Given the description of an element on the screen output the (x, y) to click on. 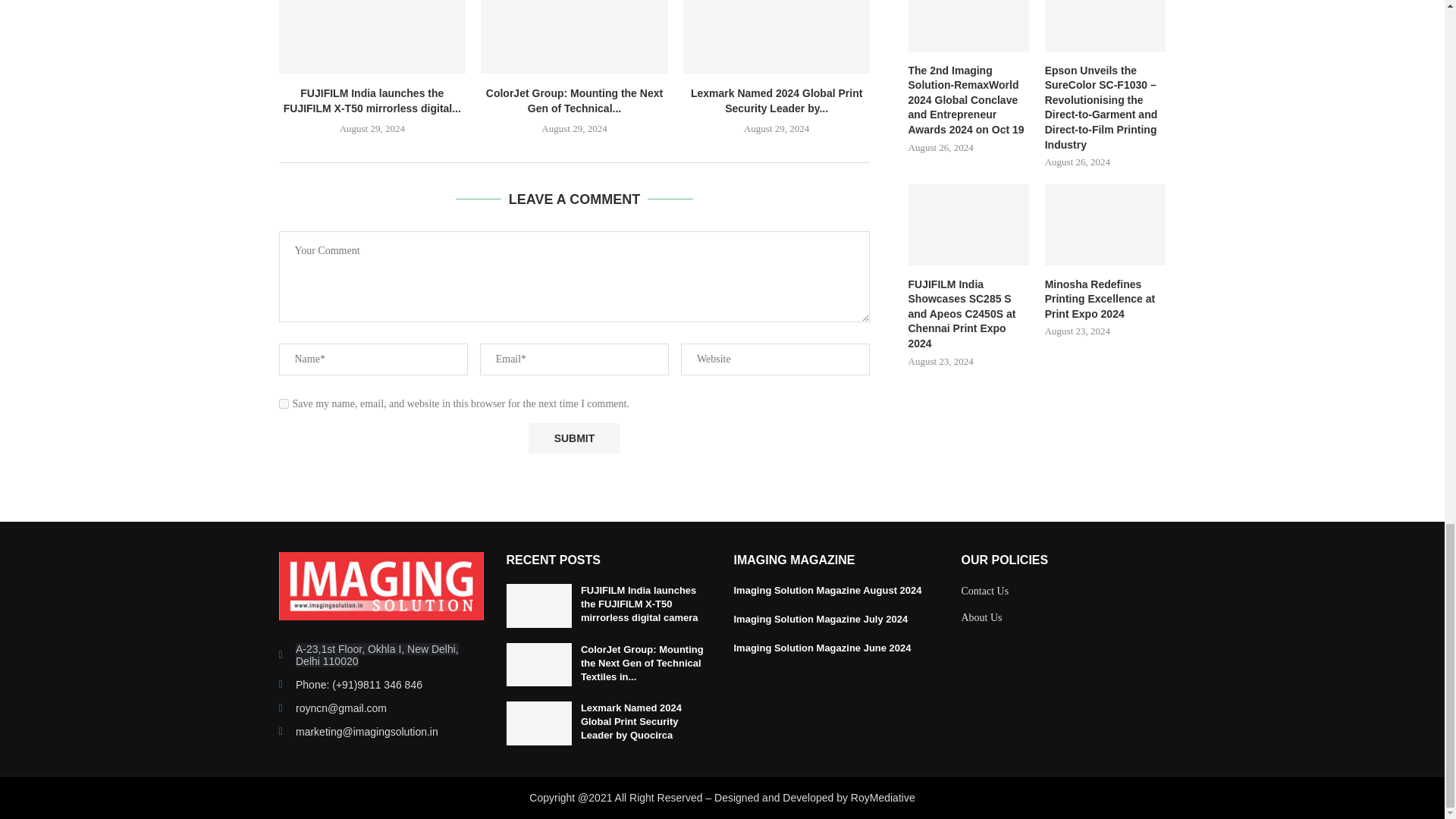
Submit (574, 438)
yes (283, 403)
Lexmark Named 2024 Global Print Security Leader by Quocirca (776, 36)
